Given the description of an element on the screen output the (x, y) to click on. 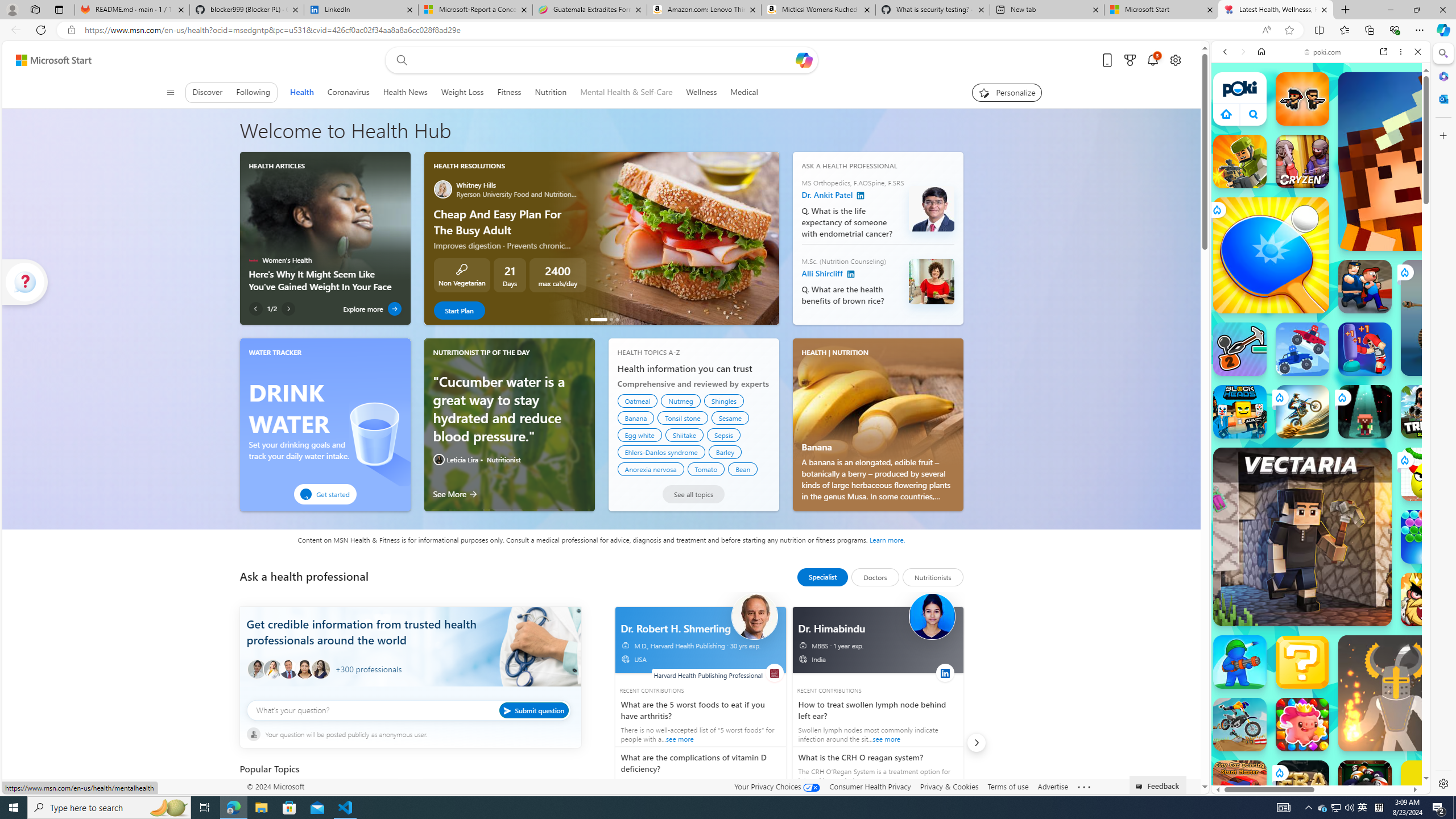
7 Day Belly Fat Loss Plan (616, 319)
Sepsis (724, 435)
Show More Io Games (1390, 351)
Weight Loss (461, 92)
Dr. Ankit Patel (861, 196)
Wellness (700, 92)
Show More Shooting Games (1390, 296)
Two Player Games (1320, 323)
Tribals.io Tribals.io (1427, 411)
Class: B_5ykBA46kDOxiz_R9wm (1253, 113)
War Master War Master (1239, 661)
